Given the description of an element on the screen output the (x, y) to click on. 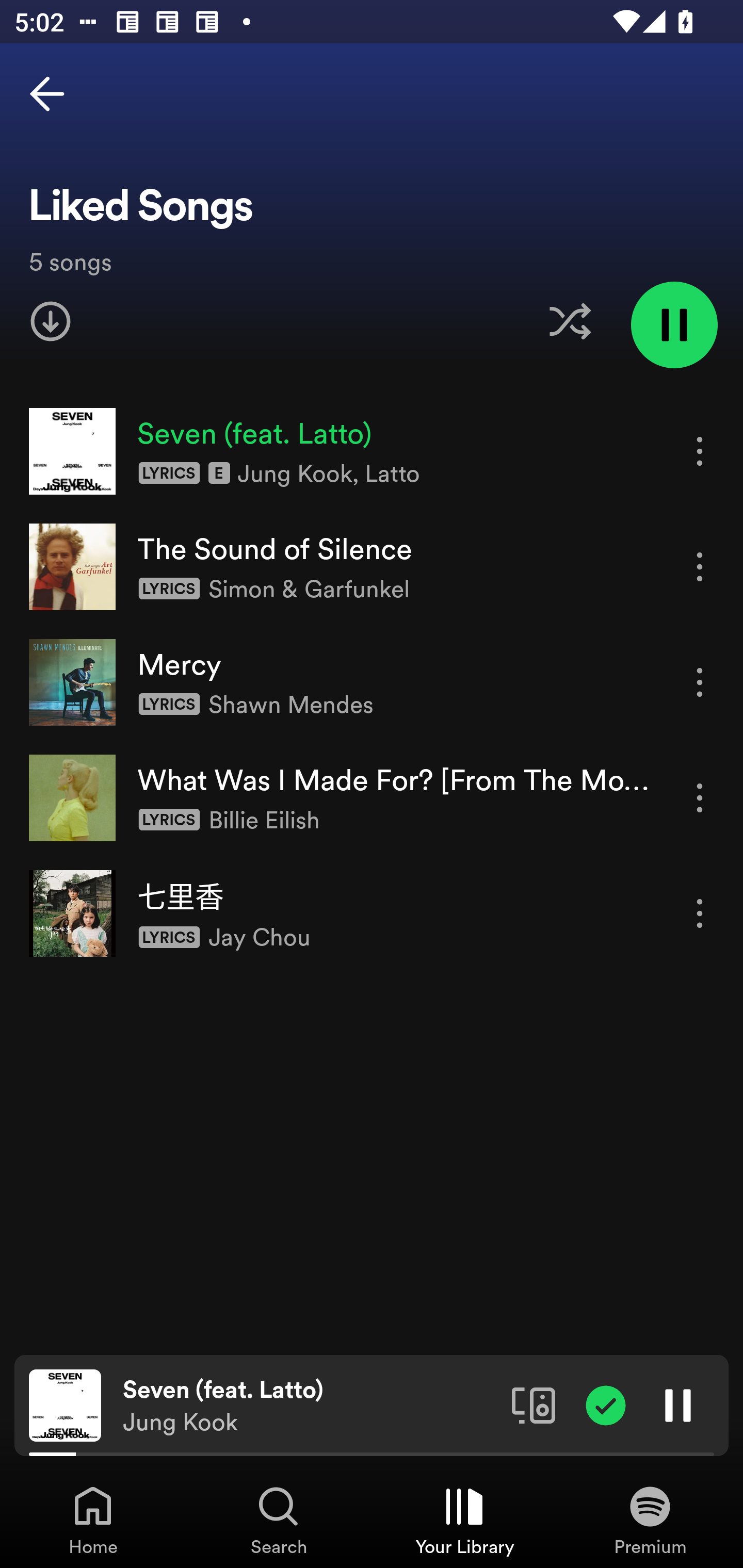
Back (46, 93)
Download (50, 321)
Enable shuffle for this liked songs (569, 321)
Pause liked songs (674, 324)
More options for song Seven (feat. Latto) (699, 450)
More options for song The Sound of Silence (699, 566)
More options for song Mercy (699, 682)
七里香 More options for song 七里香 Lyrics Jay Chou (371, 913)
More options for song 七里香 (699, 913)
Seven (feat. Latto) Jung Kook (309, 1405)
The cover art of the currently playing track (64, 1404)
Connect to a device. Opens the devices menu (533, 1404)
Item added (605, 1404)
Pause (677, 1404)
Home, Tab 1 of 4 Home Home (92, 1519)
Search, Tab 2 of 4 Search Search (278, 1519)
Your Library, Tab 3 of 4 Your Library Your Library (464, 1519)
Premium, Tab 4 of 4 Premium Premium (650, 1519)
